Given the description of an element on the screen output the (x, y) to click on. 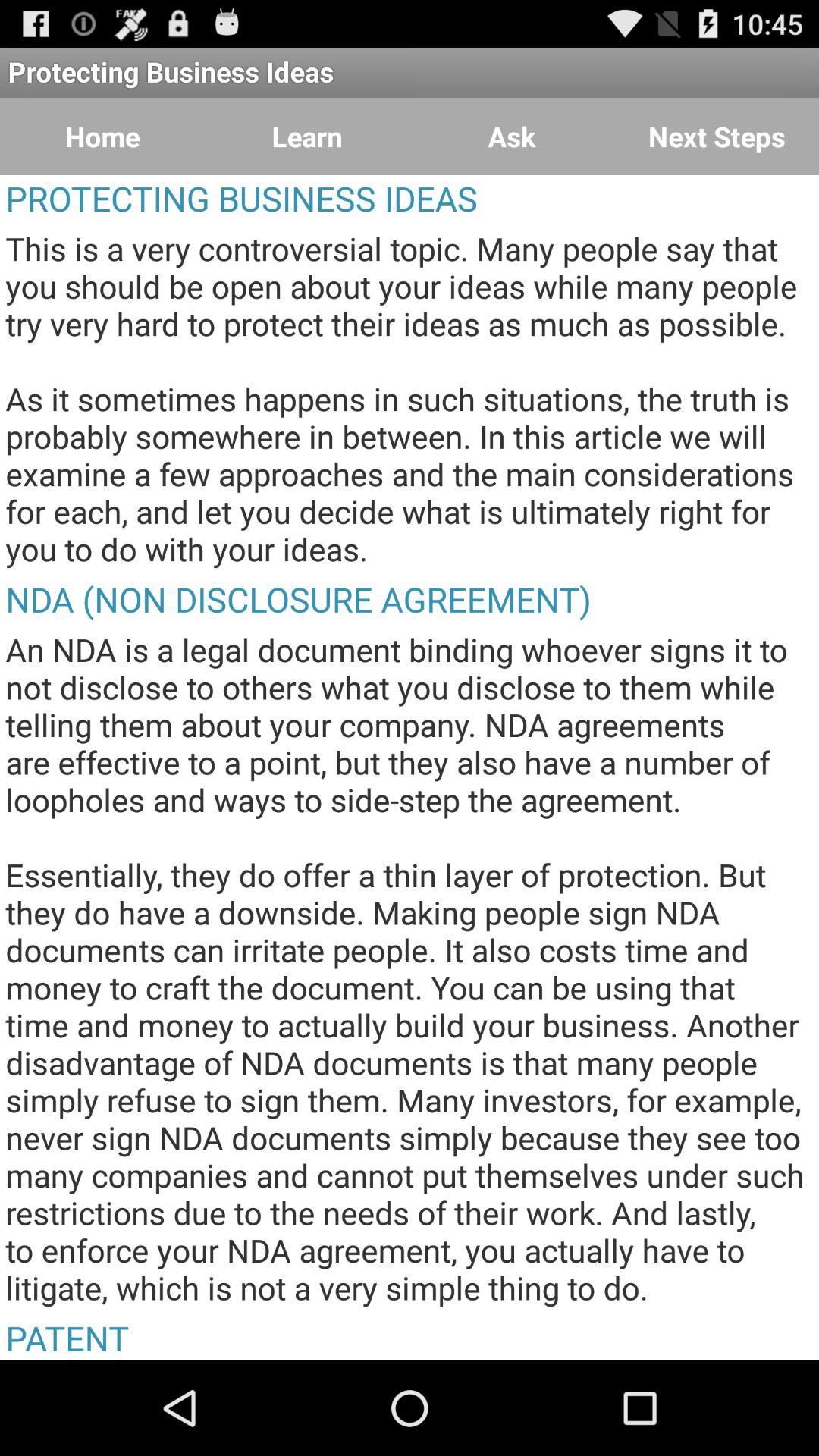
press button to the right of the learn (511, 136)
